Given the description of an element on the screen output the (x, y) to click on. 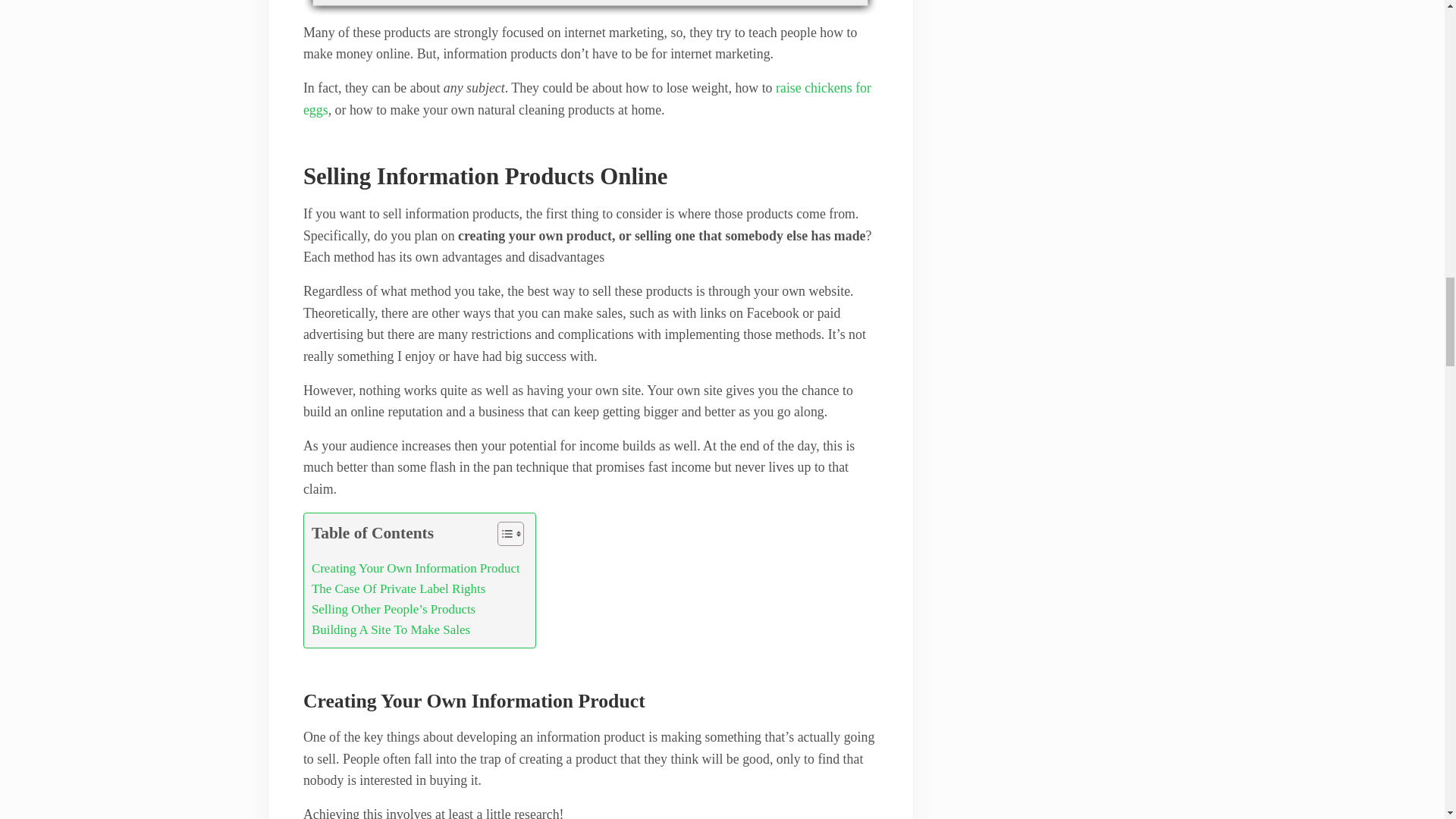
Creating Your Own Information Product (415, 567)
Creating Your Own Information Product (415, 567)
The Case Of Private Label Rights (398, 588)
The Case Of Private Label Rights (398, 588)
Building A Site To Make Sales (390, 629)
Building A Site To Make Sales (390, 629)
raise chickens for eggs (586, 98)
